Given the description of an element on the screen output the (x, y) to click on. 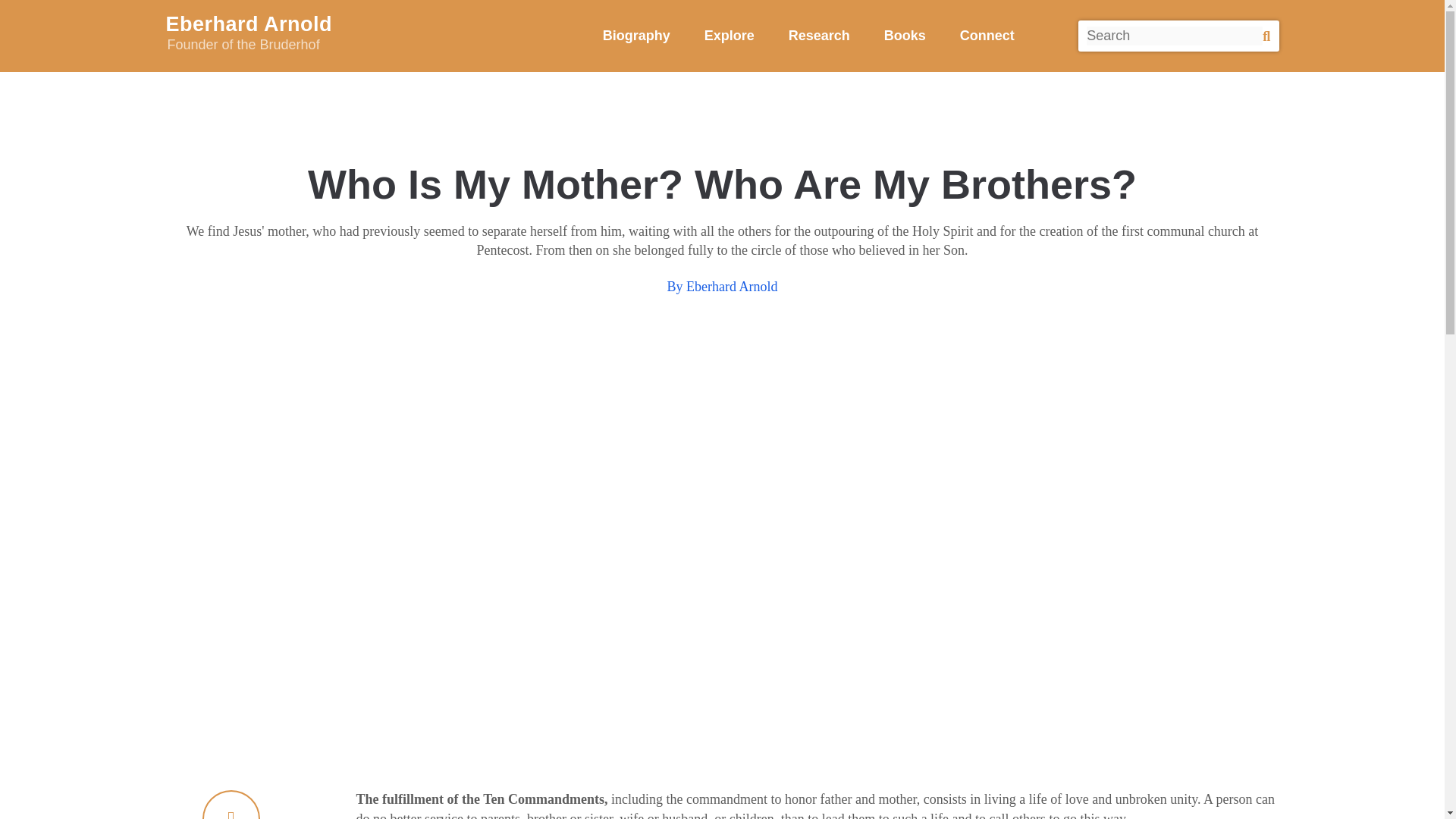
Share (231, 804)
Books (904, 35)
Biography (359, 35)
Explore (635, 35)
Research (729, 35)
Connect (819, 35)
